Given the description of an element on the screen output the (x, y) to click on. 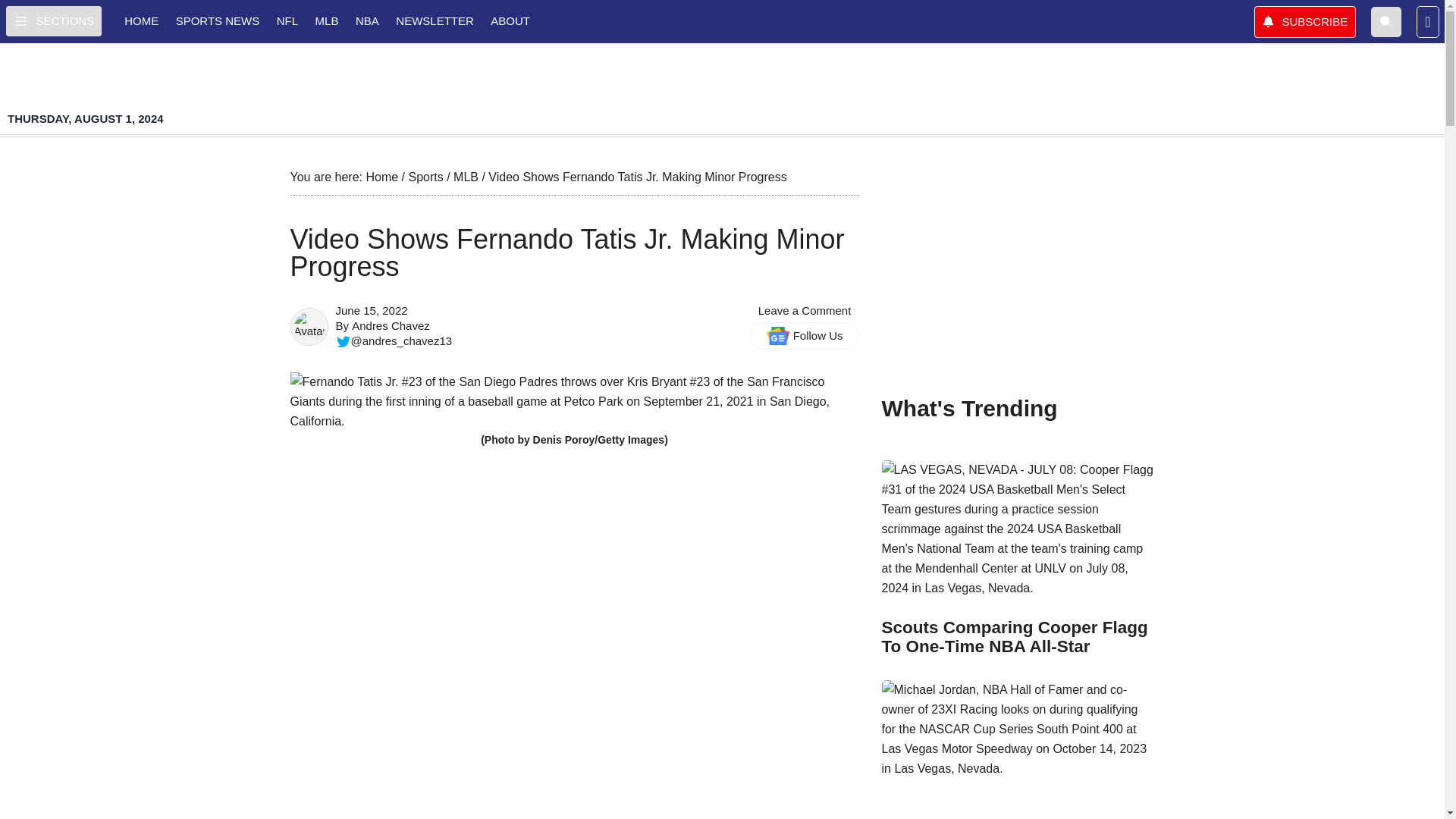
Search (1385, 20)
Open Menu (53, 20)
